Given the description of an element on the screen output the (x, y) to click on. 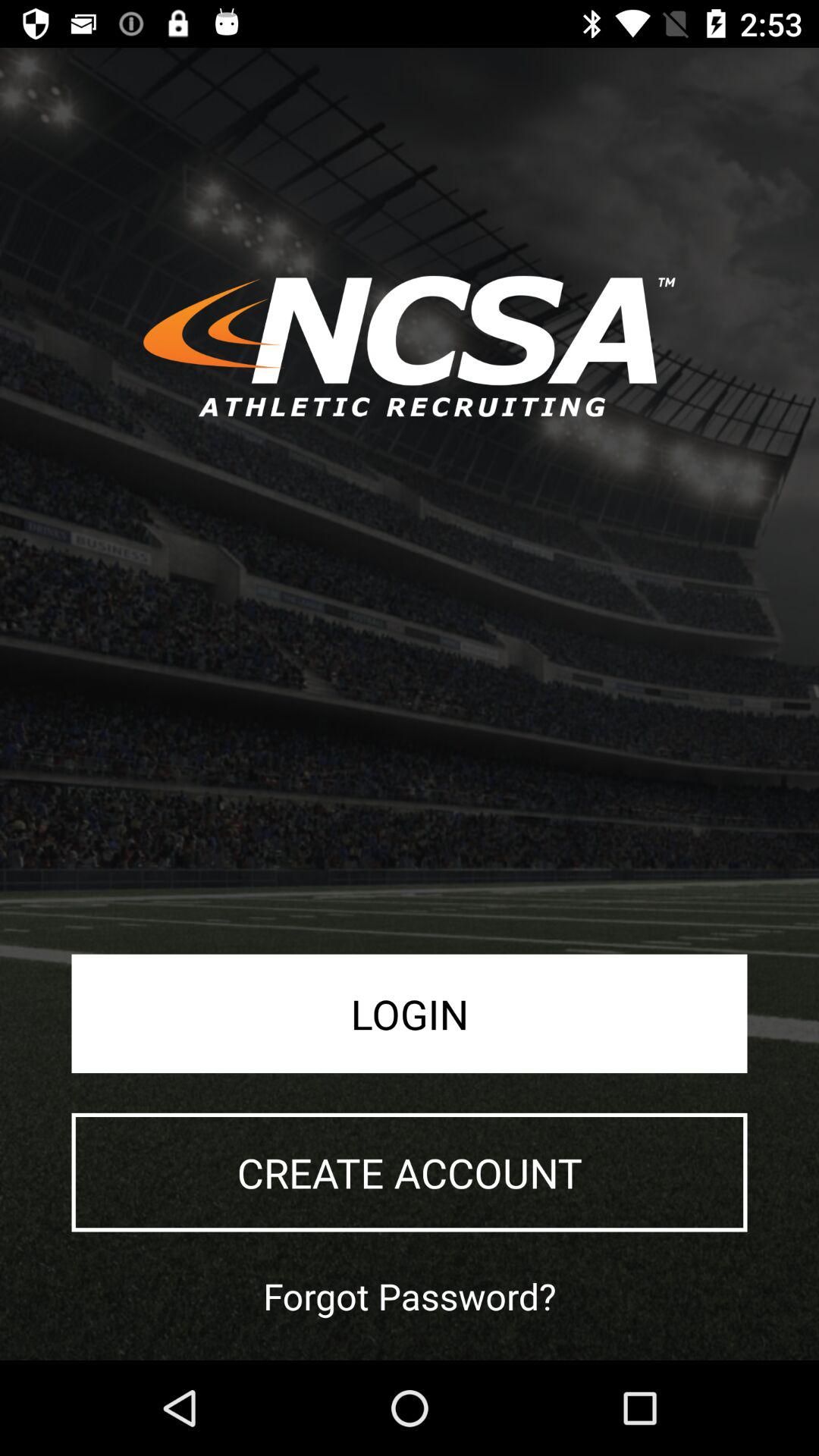
click the create account icon (409, 1172)
